Given the description of an element on the screen output the (x, y) to click on. 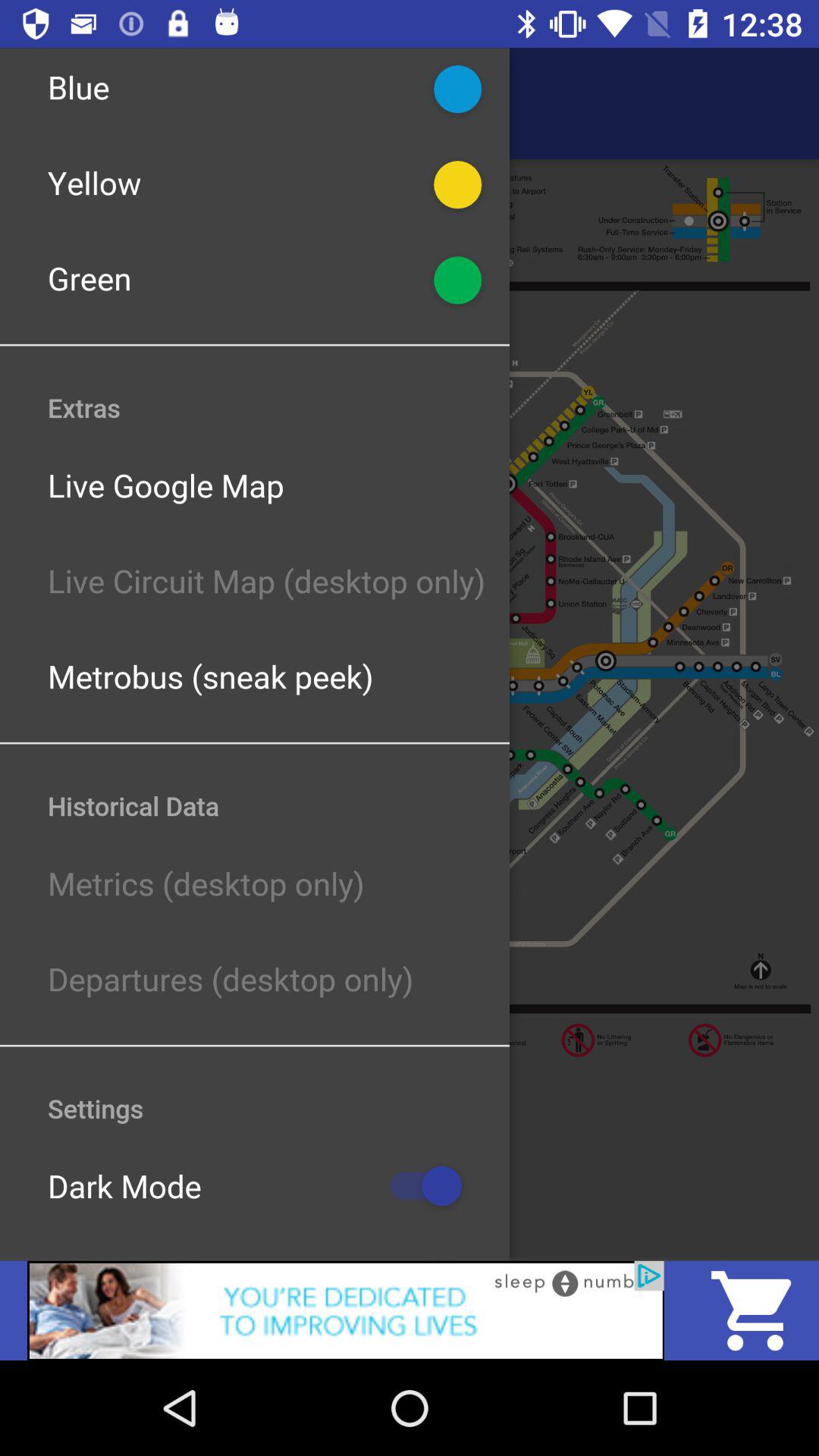
advatisment (345, 1310)
